Given the description of an element on the screen output the (x, y) to click on. 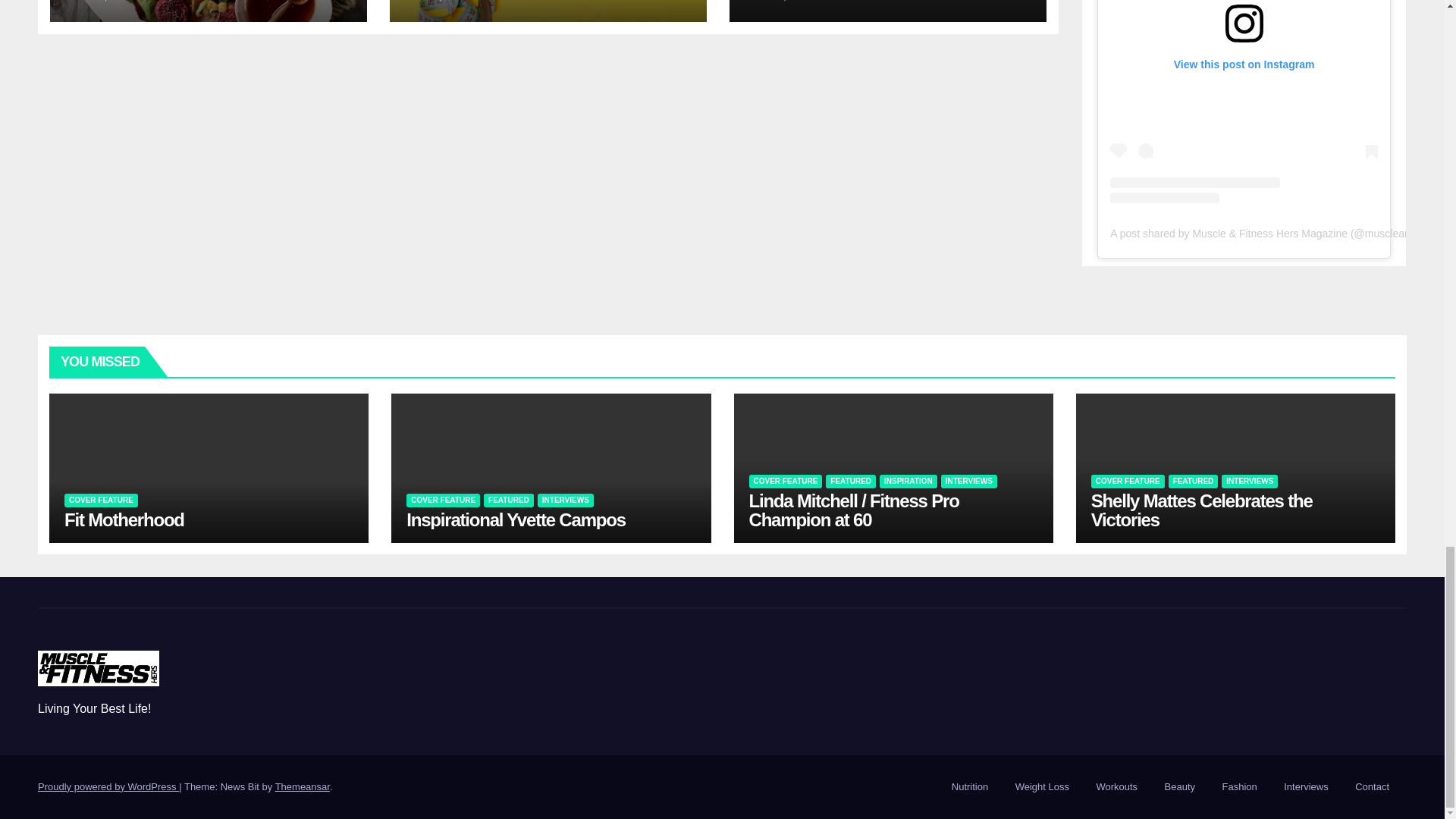
Nutrition (969, 786)
Permalink to: Inspirational Yvette Campos (516, 519)
Permalink to: Fit Motherhood (124, 519)
Weight Loss (1042, 786)
Permalink to: Shelly Mattes Celebrates the Victories (1201, 509)
